Given the description of an element on the screen output the (x, y) to click on. 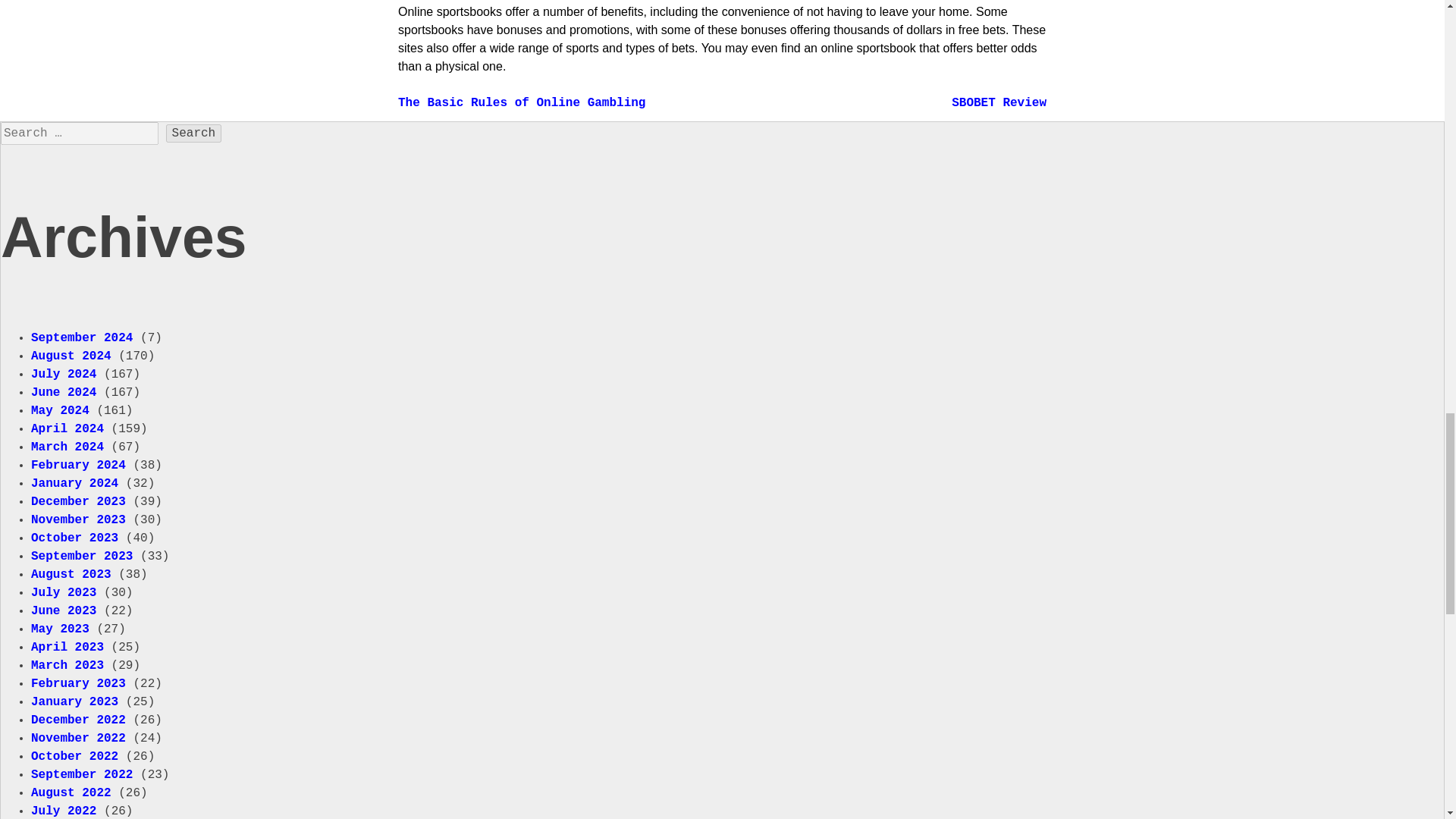
Search (193, 133)
September 2024 (81, 337)
May 2023 (59, 629)
Search (193, 133)
November 2022 (77, 738)
February 2023 (77, 684)
March 2023 (66, 665)
September 2022 (81, 775)
Search (193, 133)
May 2024 (59, 410)
